Given the description of an element on the screen output the (x, y) to click on. 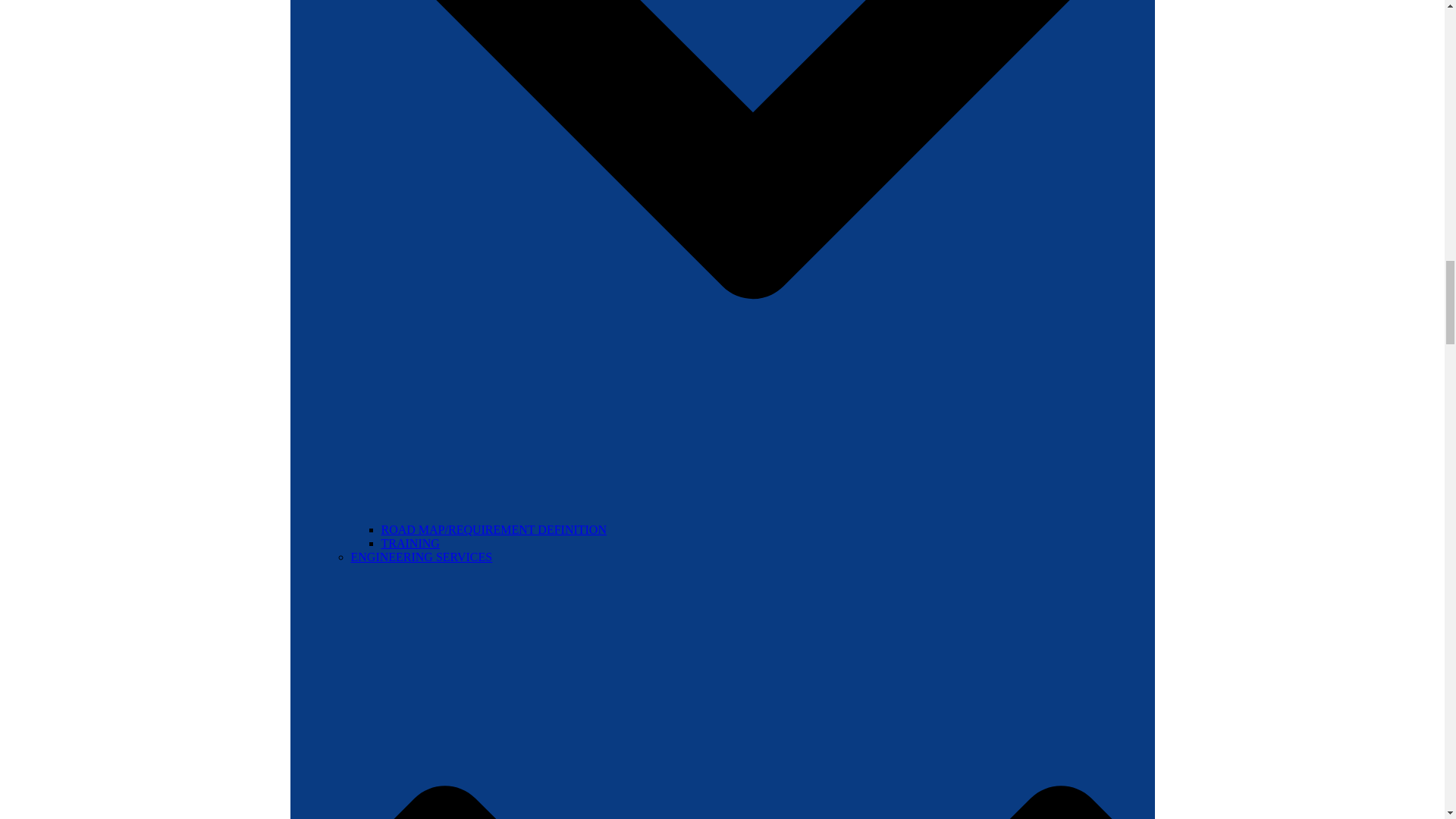
TRAINING (409, 543)
